Given the description of an element on the screen output the (x, y) to click on. 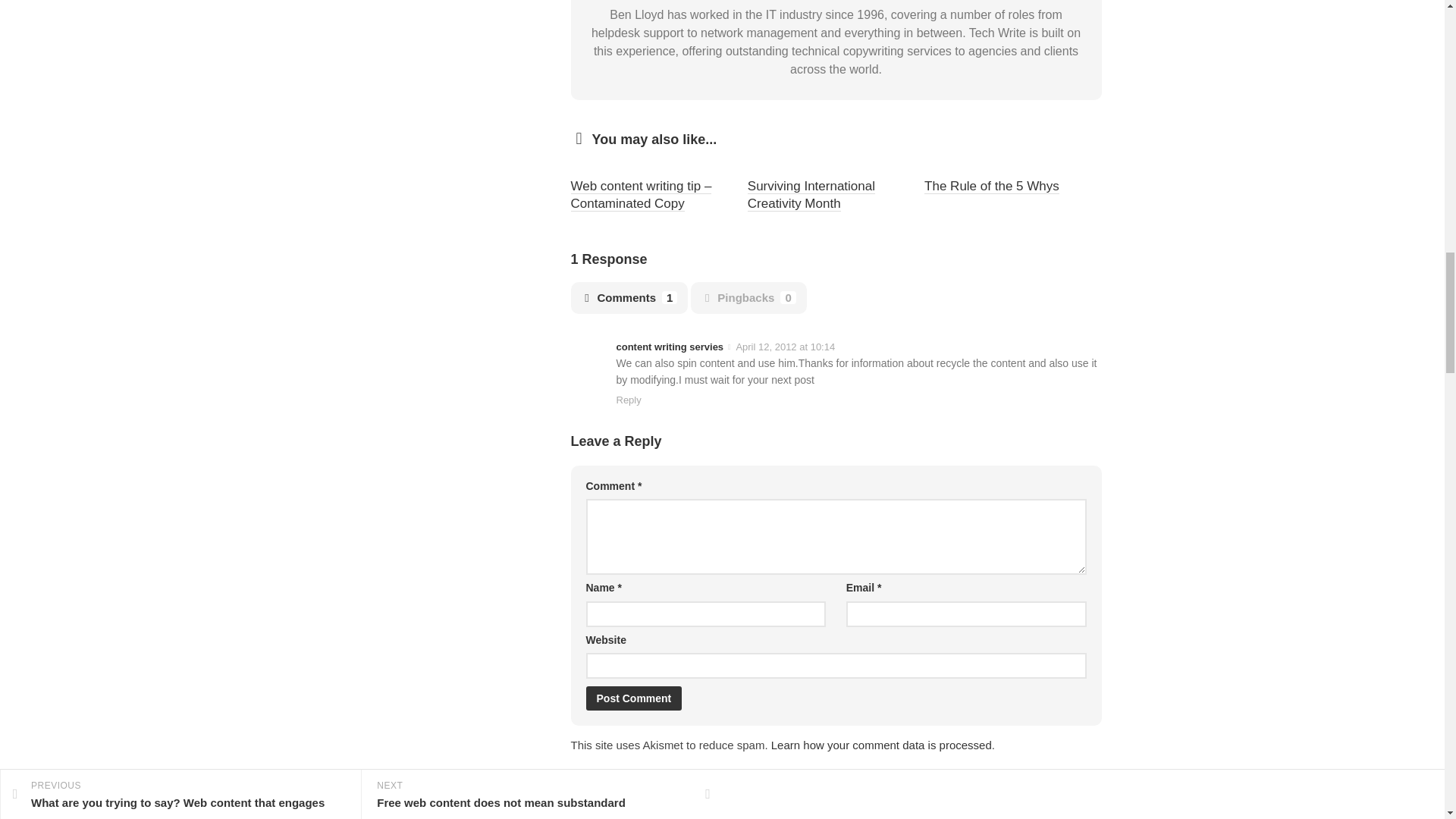
Post Comment (633, 698)
